Given the description of an element on the screen output the (x, y) to click on. 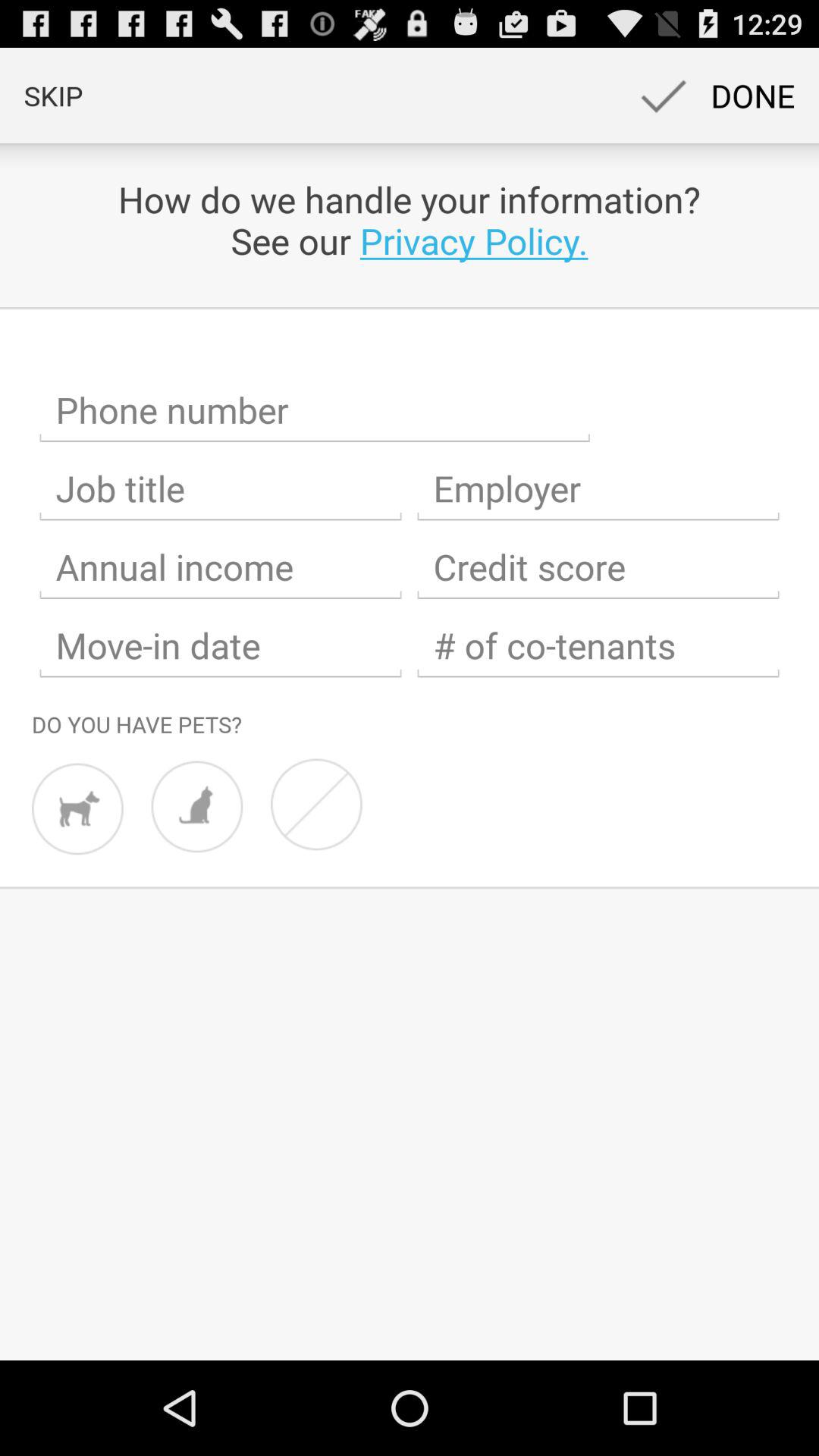
input number of co-tenants (598, 645)
